Given the description of an element on the screen output the (x, y) to click on. 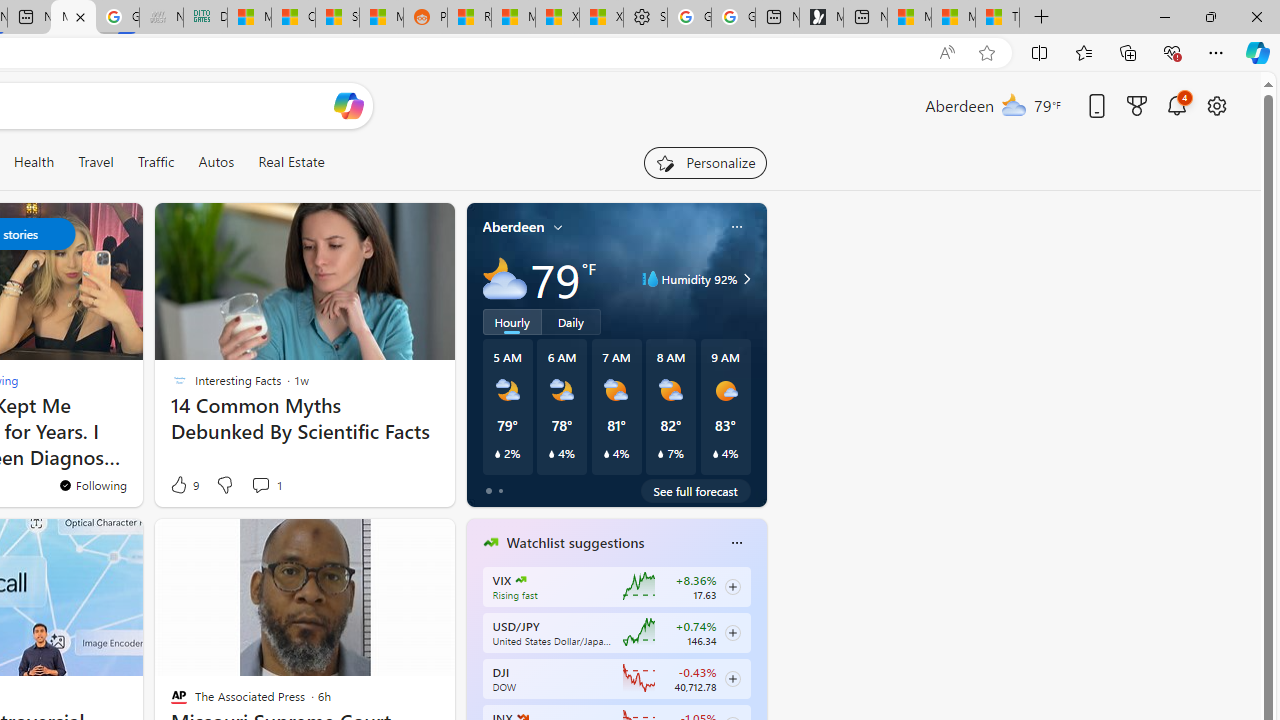
Real Estate (291, 161)
next (756, 670)
Traffic (155, 161)
Hide this story (201, 542)
View comments 1 Comment (260, 485)
Mostly cloudy (504, 278)
